Given the description of an element on the screen output the (x, y) to click on. 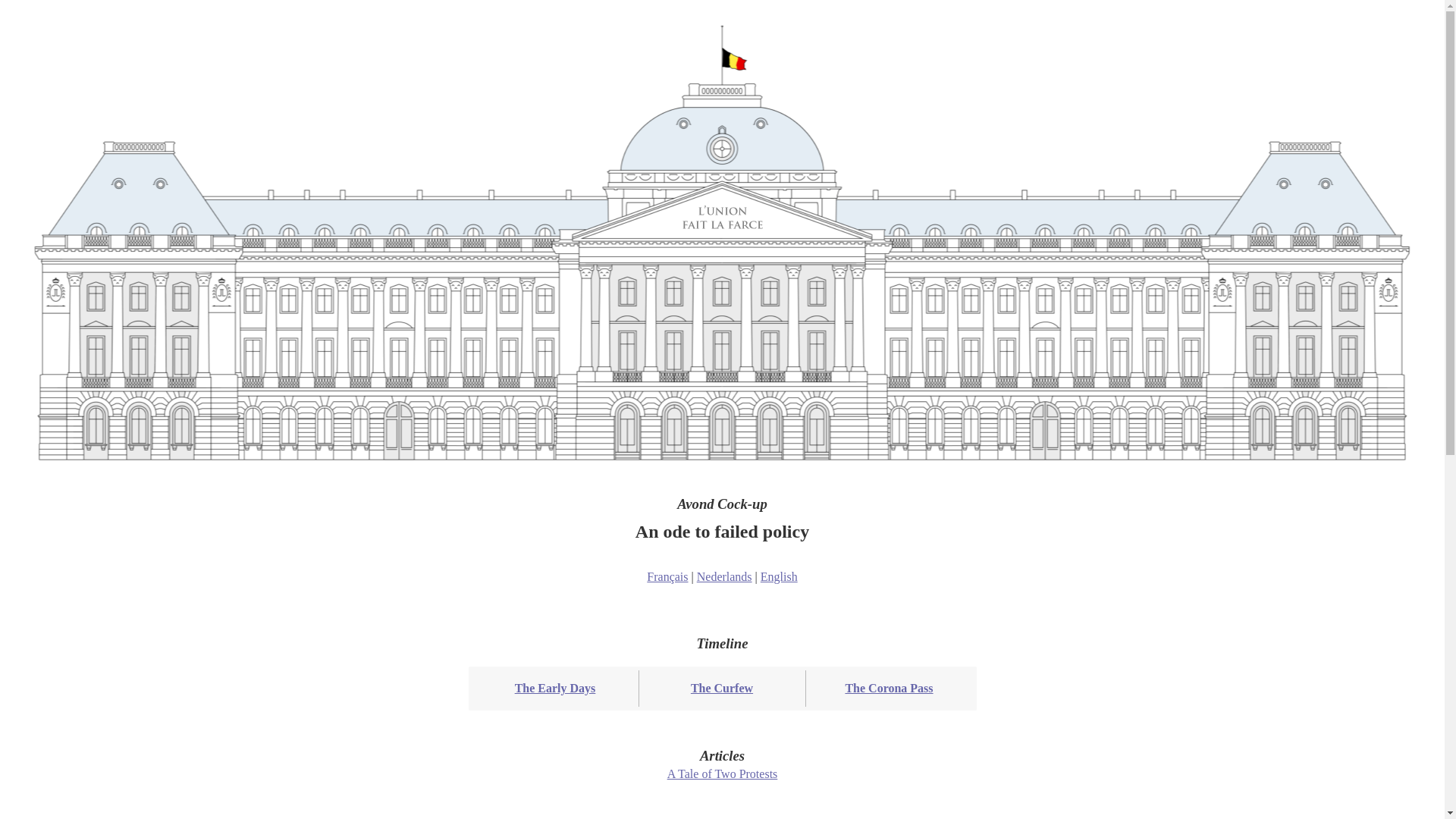
The Curfew Element type: text (721, 688)
Unity makes the little things more onerous Element type: hover (721, 217)
A Tale of Two Protests Element type: text (722, 773)
English Element type: text (778, 576)
Nederlands Element type: text (724, 576)
The Early Days Element type: text (554, 688)
The Corona Pass Element type: text (888, 688)
